Given the description of an element on the screen output the (x, y) to click on. 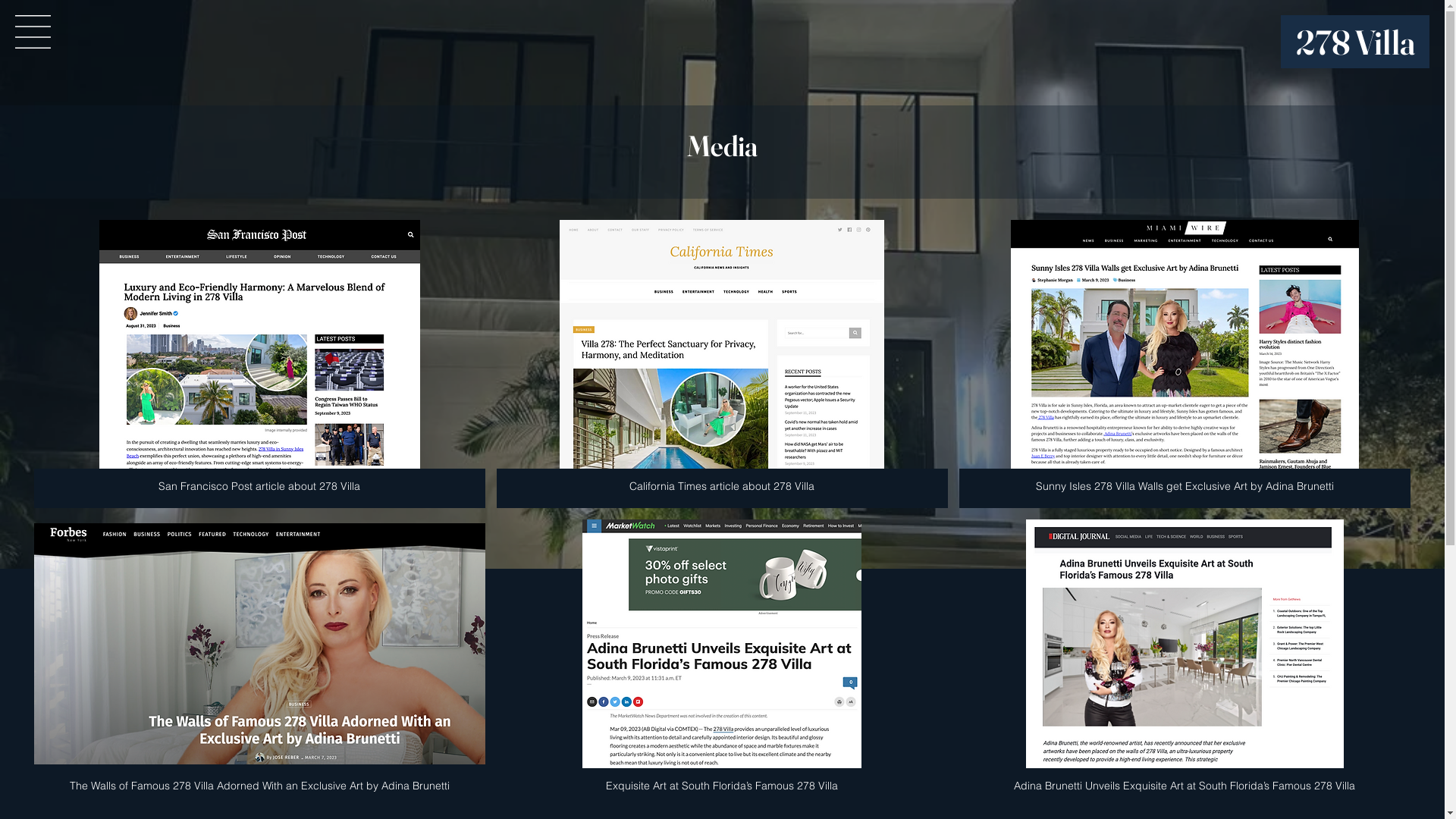
San Francisco Post article about 278 Villa Element type: text (259, 363)
California Times article about 278 Villa Element type: text (721, 363)
278 Villa Element type: text (1355, 41)
